Given the description of an element on the screen output the (x, y) to click on. 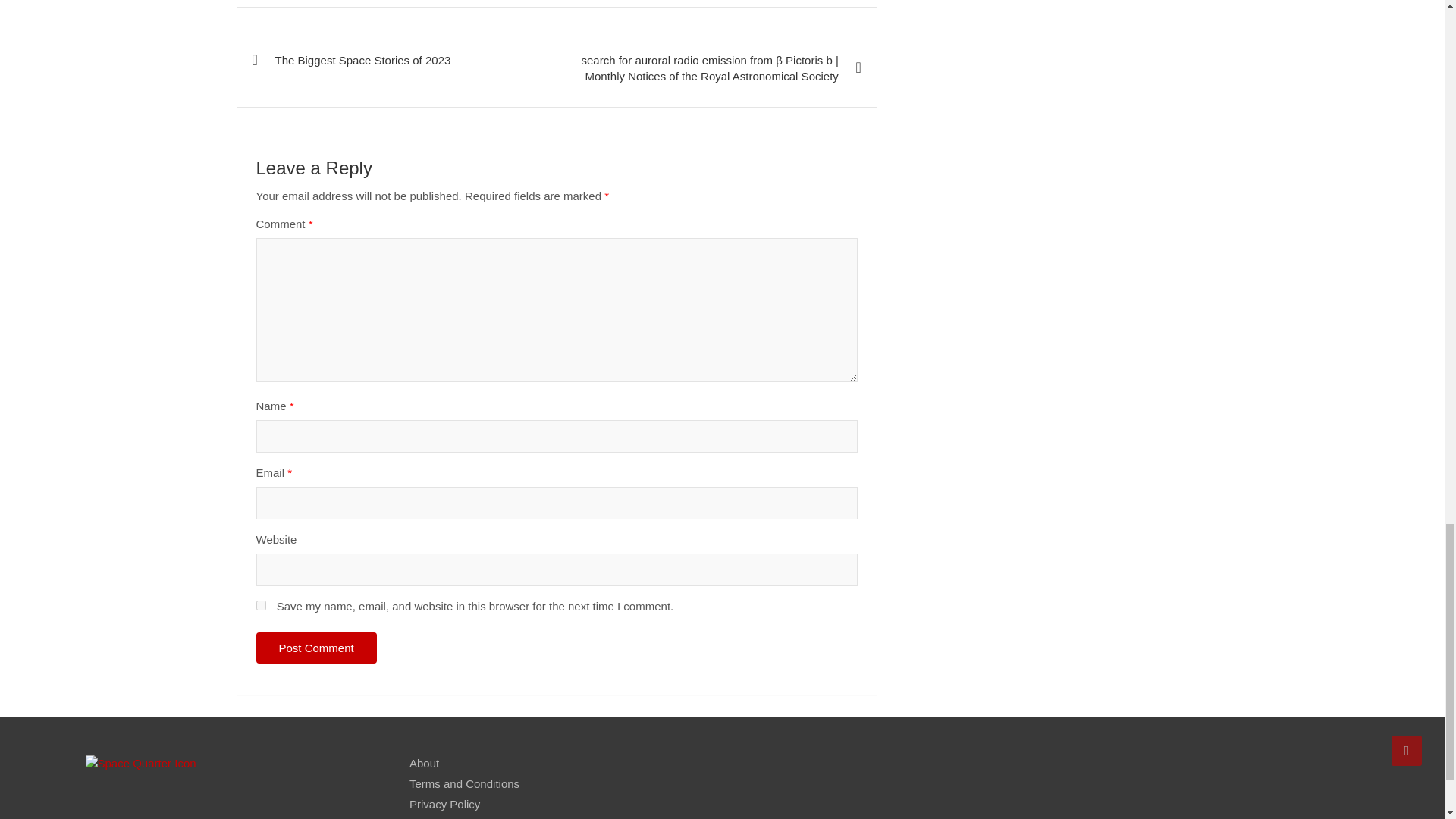
The Biggest Space Stories of 2023 (395, 59)
yes (261, 605)
Post Comment (316, 647)
Post Comment (316, 647)
